Given the description of an element on the screen output the (x, y) to click on. 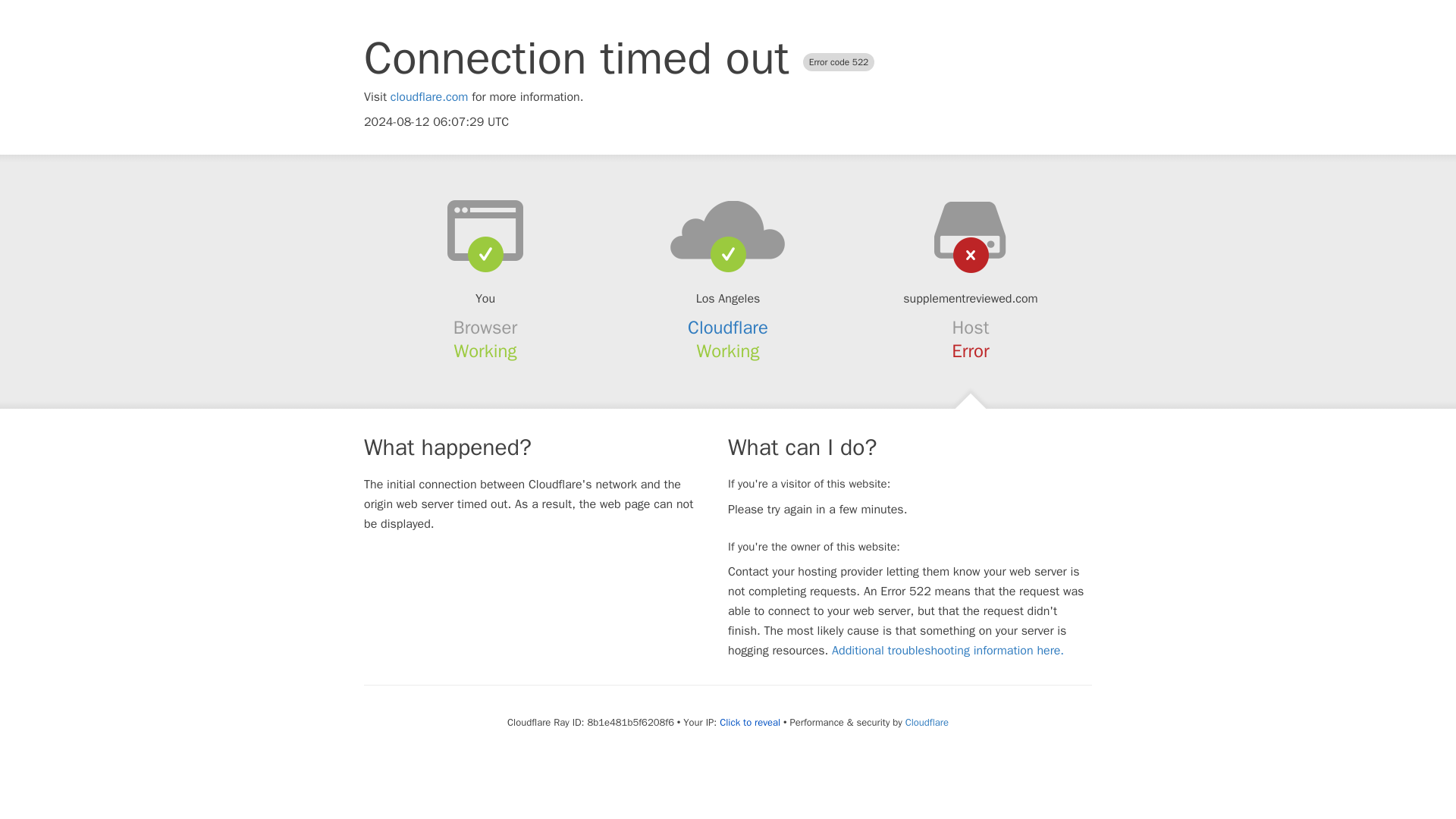
cloudflare.com (429, 96)
Cloudflare (727, 327)
Cloudflare (927, 721)
Click to reveal (749, 722)
Additional troubleshooting information here. (947, 650)
